Given the description of an element on the screen output the (x, y) to click on. 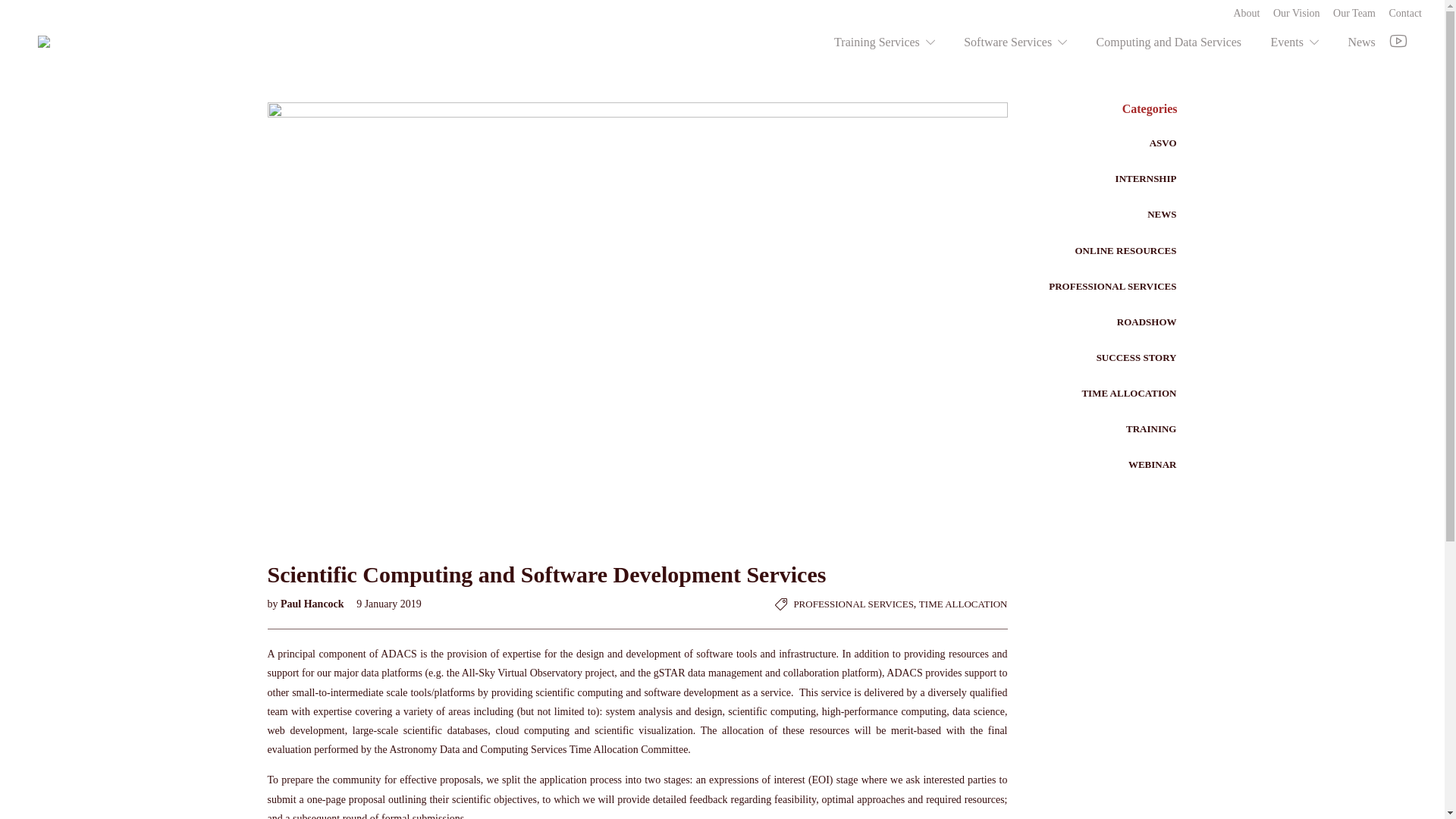
Paul Hancock Element type: text (313, 603)
News Element type: text (1360, 42)
Training Services Element type: text (884, 42)
SUCCESS STORY Element type: text (1136, 357)
TRAINING Element type: text (1151, 428)
TIME ALLOCATION Element type: text (1128, 393)
Contact Element type: text (1404, 12)
Scientific Computing and Software Development Services Element type: text (636, 568)
ROADSHOW Element type: text (1146, 321)
ASVO Element type: text (1162, 142)
NEWS Element type: text (1161, 214)
Our Vision Element type: text (1296, 12)
PROFESSIONAL SERVICES Element type: text (1112, 286)
Our Team Element type: text (1354, 12)
WEBINAR Element type: text (1152, 464)
Software Services Element type: text (1014, 42)
INTERNSHIP Element type: text (1145, 178)
Computing and Data Services Element type: text (1169, 42)
Events Element type: text (1294, 42)
ONLINE RESOURCES Element type: text (1125, 250)
About Element type: text (1246, 12)
PROFESSIONAL SERVICES Element type: text (853, 603)
TIME ALLOCATION Element type: text (963, 603)
9 January 2019 Element type: text (383, 603)
